Given the description of an element on the screen output the (x, y) to click on. 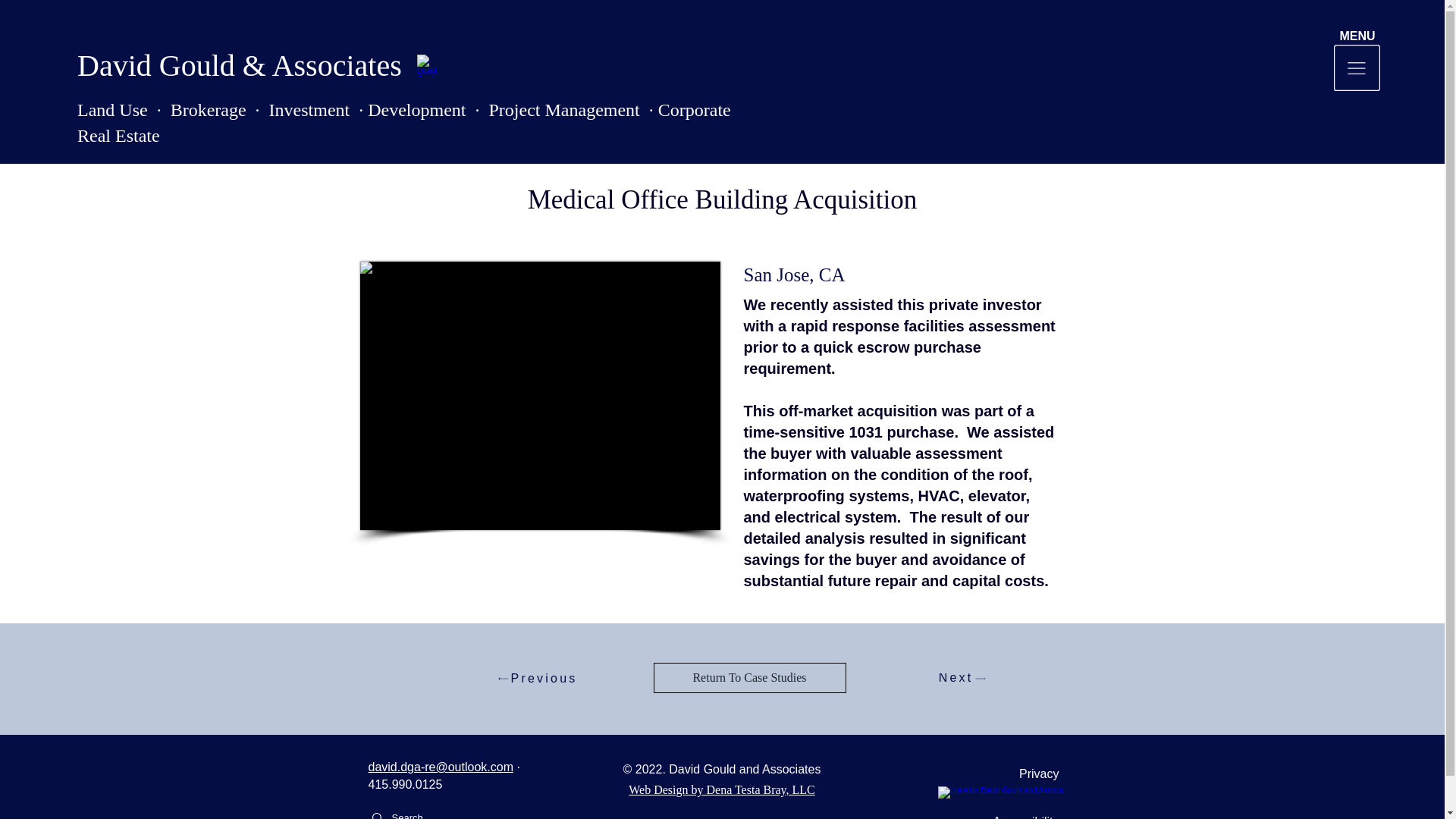
Privacy (1004, 773)
Web Design by Dena Testa Bray, LLC (721, 789)
Next (962, 677)
MENU (1356, 35)
Return To Case Studies (749, 677)
Accessibility (1004, 811)
Previous (537, 677)
